Given the description of an element on the screen output the (x, y) to click on. 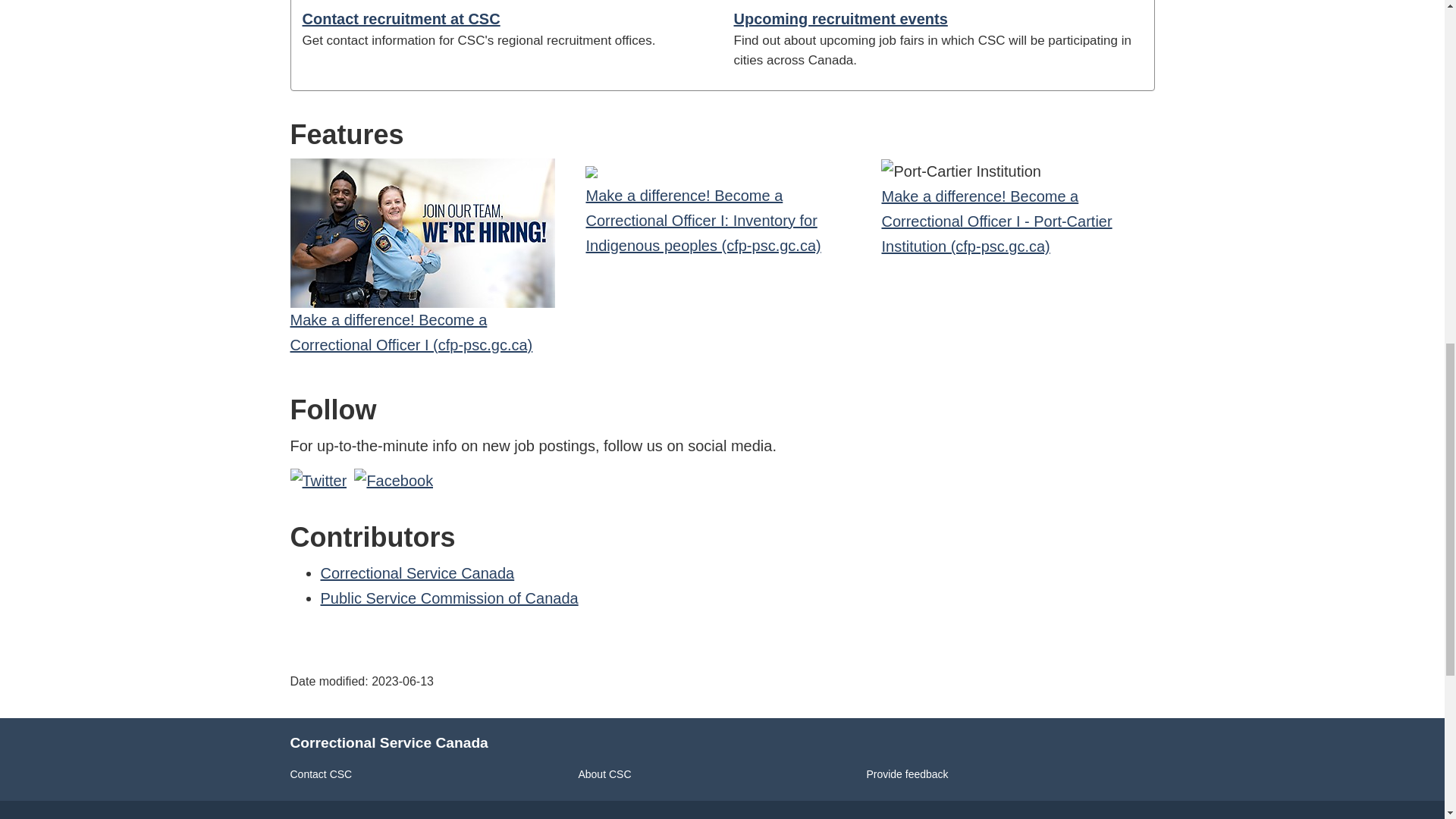
Facebook (392, 480)
Contact recruitment at CSC (400, 18)
Correctional Service Canada (416, 573)
Upcoming recruitment events (840, 18)
Twitter (317, 480)
